Given the description of an element on the screen output the (x, y) to click on. 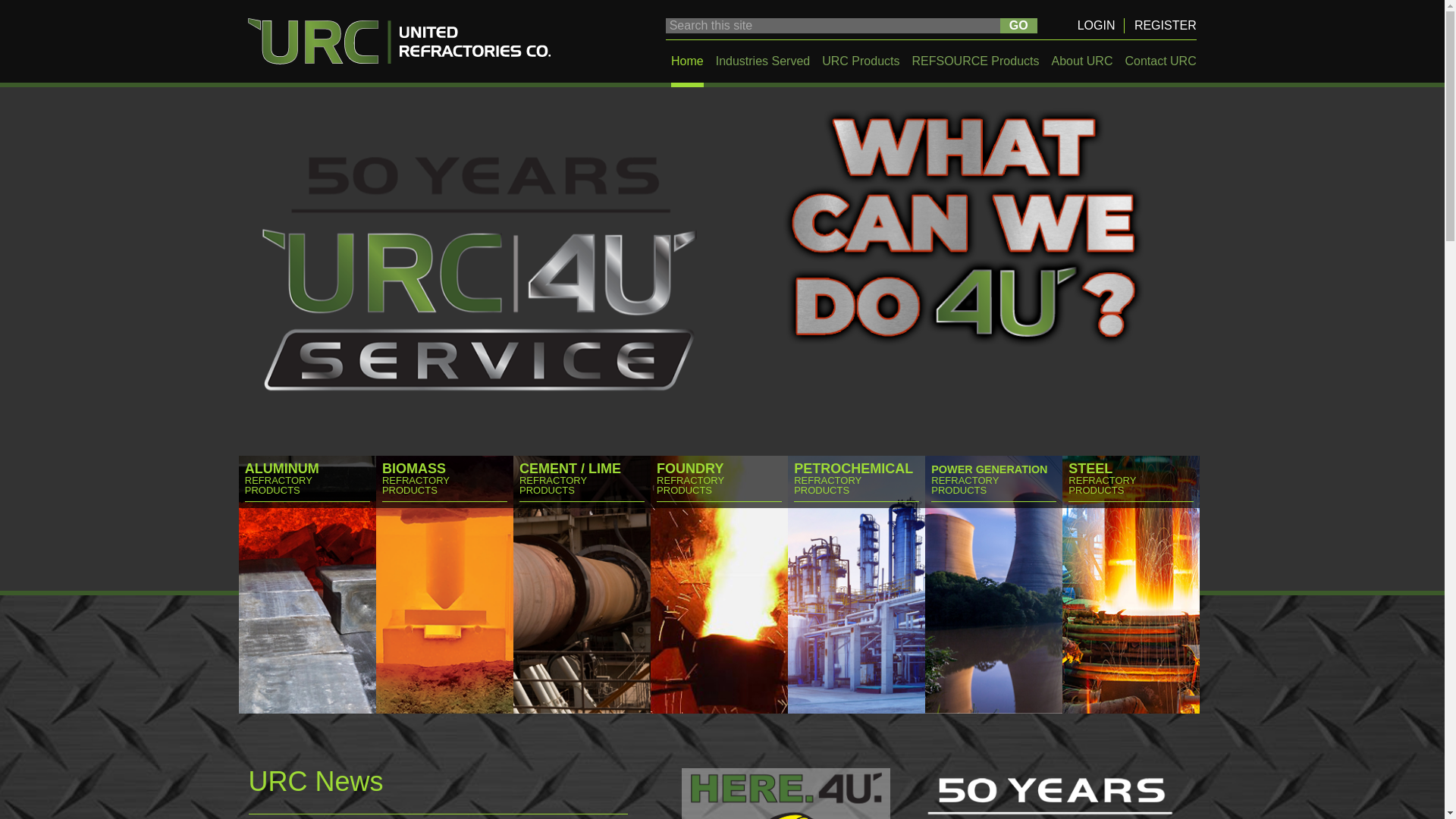
Industries Served (763, 61)
About URC (1082, 61)
URC Products (860, 61)
GO (1018, 25)
Home (687, 61)
REGISTER (1165, 24)
LOGIN (1096, 24)
REFSOURCE Products (975, 61)
